Given the description of an element on the screen output the (x, y) to click on. 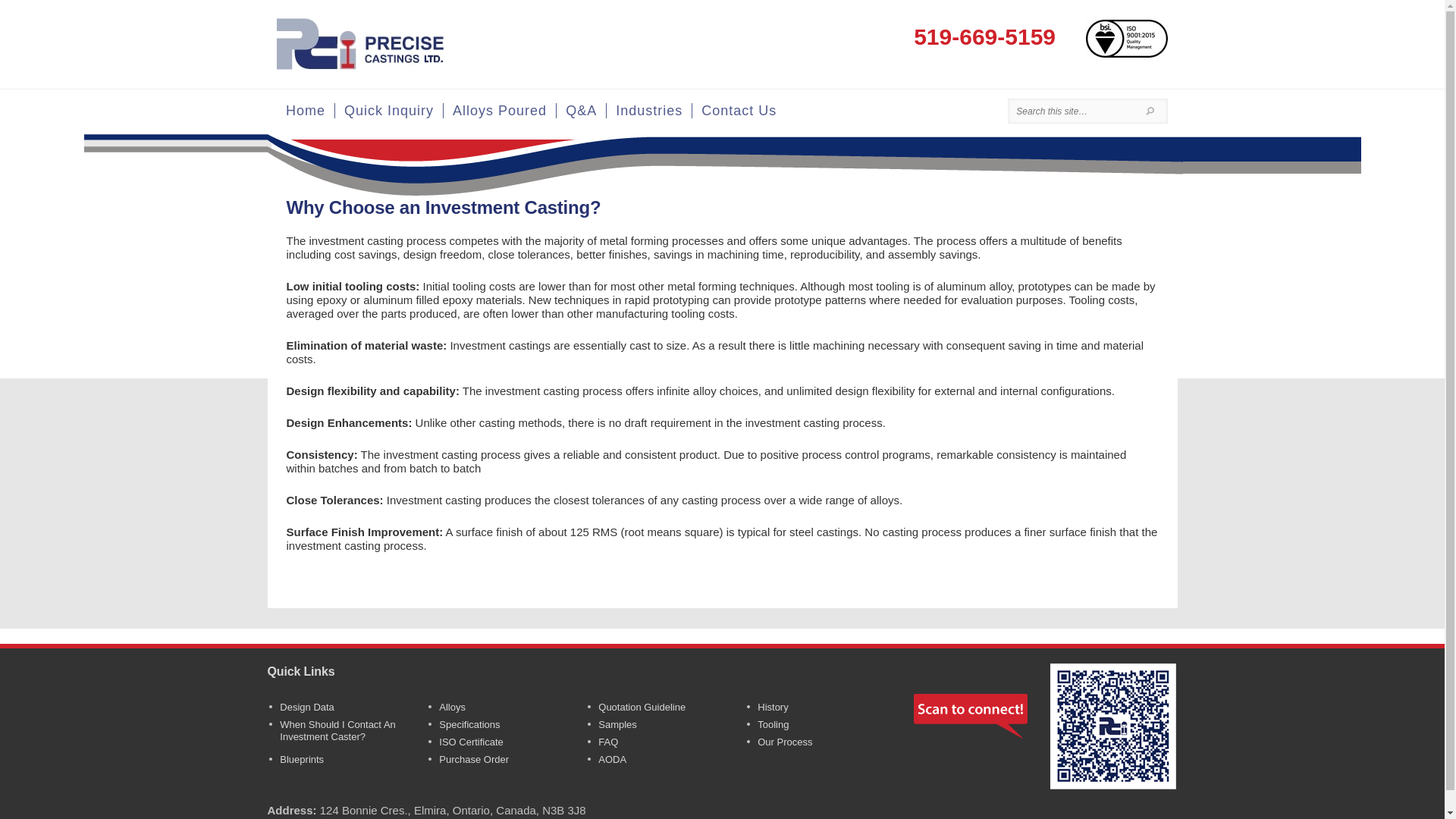
Samples (617, 724)
Quick Inquiry (388, 110)
Contact Us (739, 110)
Specifications (469, 724)
Search (1150, 110)
ISO Certification (1126, 36)
Industries (649, 110)
Alloys (452, 706)
Tooling (773, 724)
Quotation Guideline (641, 706)
